Given the description of an element on the screen output the (x, y) to click on. 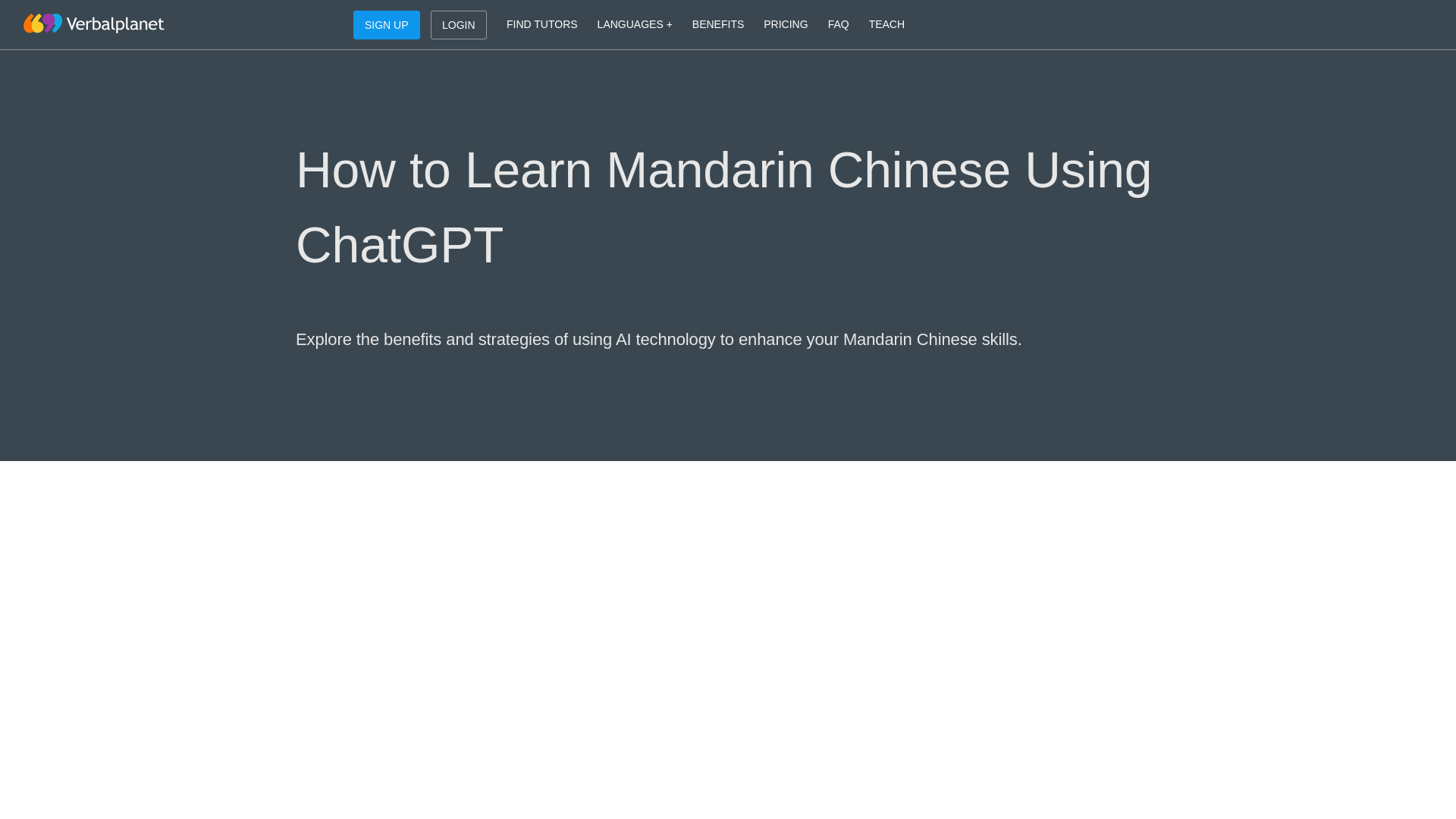
SIGN UP (386, 24)
FIND TUTORS (542, 24)
Home (93, 23)
LOGIN (458, 24)
